Given the description of an element on the screen output the (x, y) to click on. 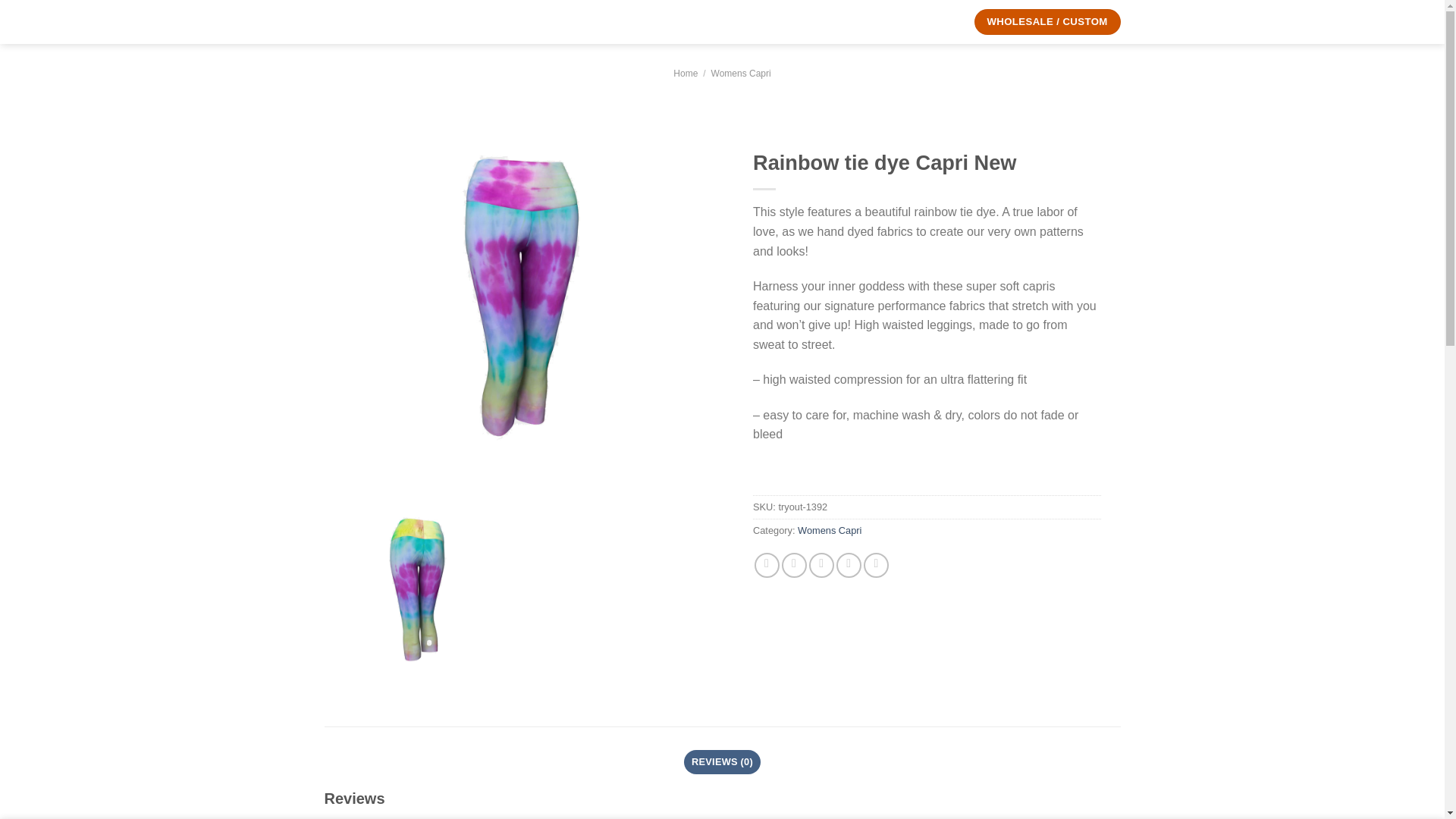
Womens Capri (829, 530)
Share on Twitter (793, 565)
Womens Capri (741, 72)
Pin on Pinterest (848, 565)
Share on LinkedIn (875, 565)
TRYOUT  SPORTS - Sports Apparel manufacturing company (376, 21)
Home (684, 72)
Share on Facebook (766, 565)
Fitness (669, 21)
Email to a Friend (821, 565)
